Given the description of an element on the screen output the (x, y) to click on. 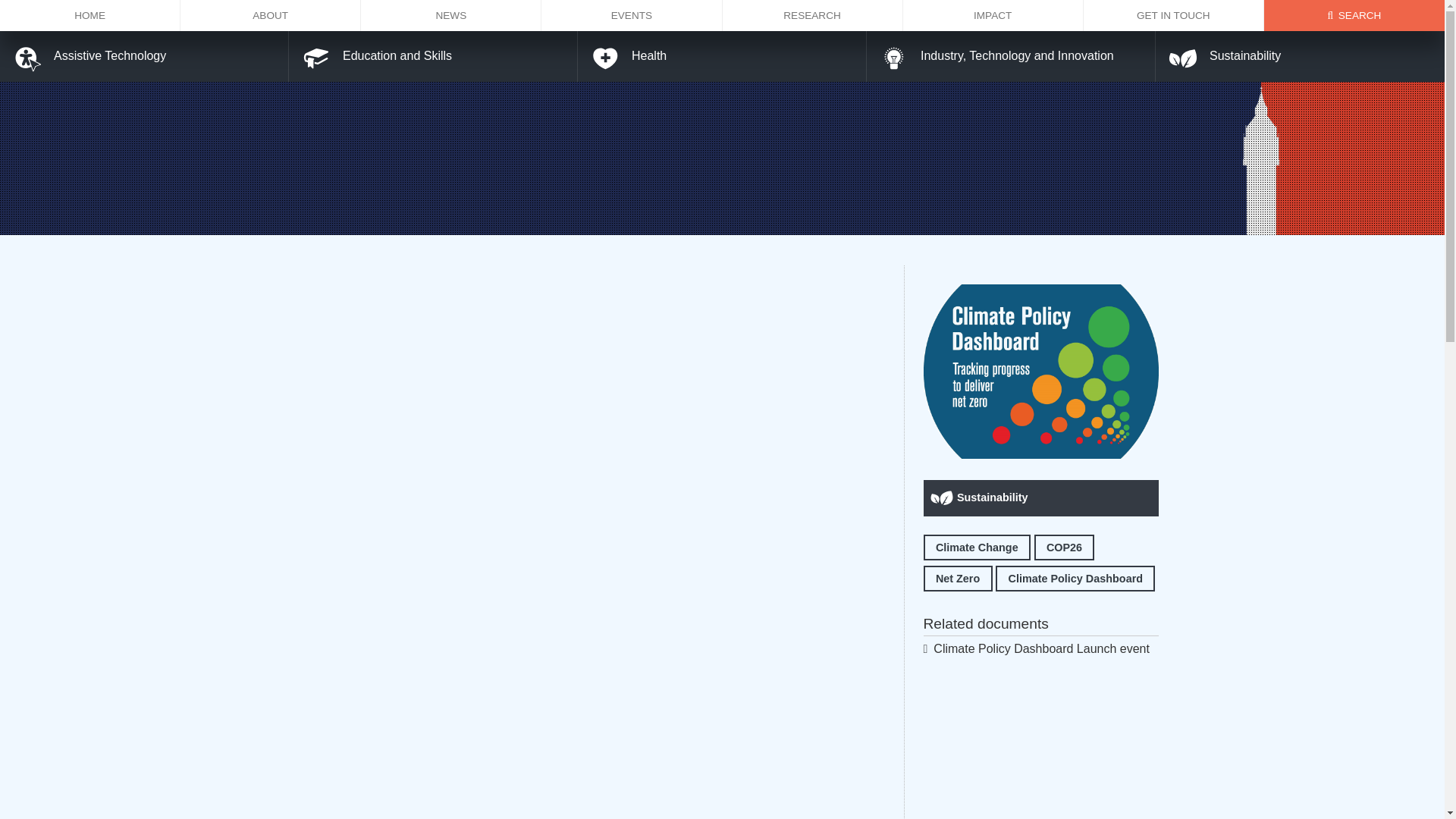
IMPACT (992, 15)
Sustainability (1040, 497)
Climate Change (976, 547)
All research (812, 15)
All events (631, 15)
RESEARCH (812, 15)
HOME (90, 15)
NEWS (451, 15)
ABOUT (270, 15)
All news (451, 15)
